Given the description of an element on the screen output the (x, y) to click on. 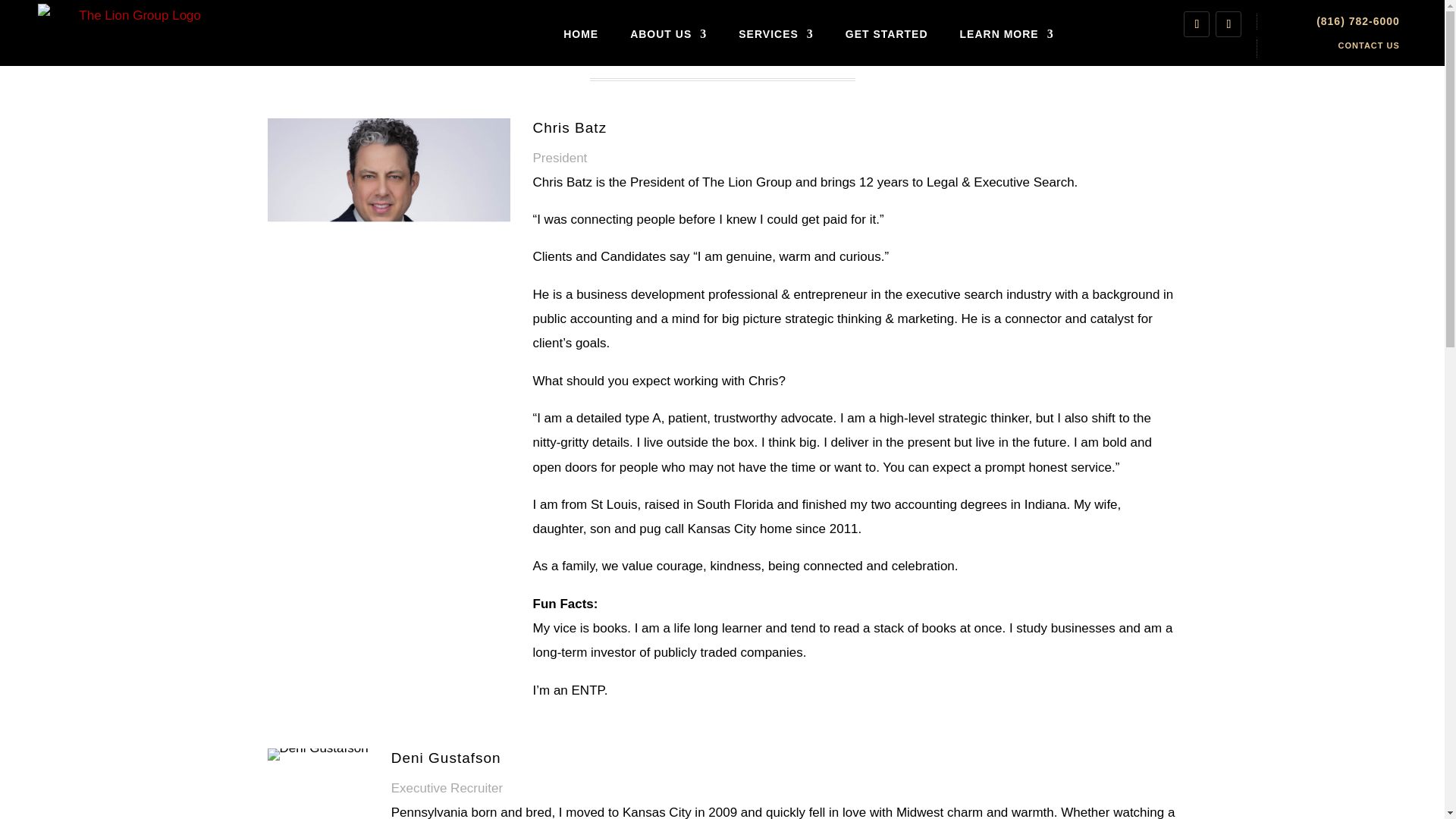
LEARN MORE (1006, 34)
SERVICES (775, 34)
CONTACT US (1368, 44)
Follow on Twitter (1228, 23)
ABOUT US (668, 34)
Follow on LinkedIn (1196, 23)
GET STARTED (886, 34)
